Given the description of an element on the screen output the (x, y) to click on. 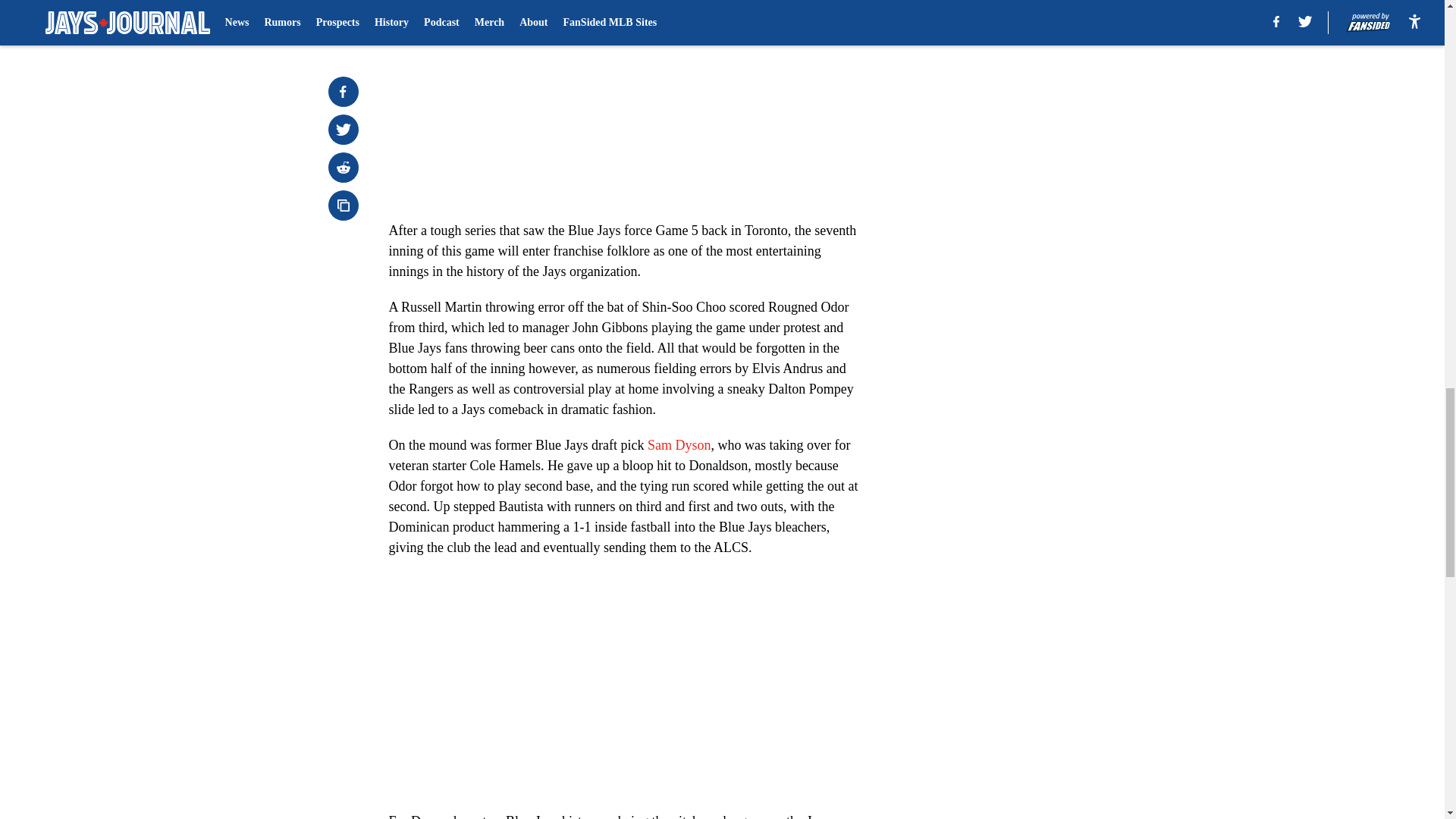
Sam Dyson (679, 444)
